Given the description of an element on the screen output the (x, y) to click on. 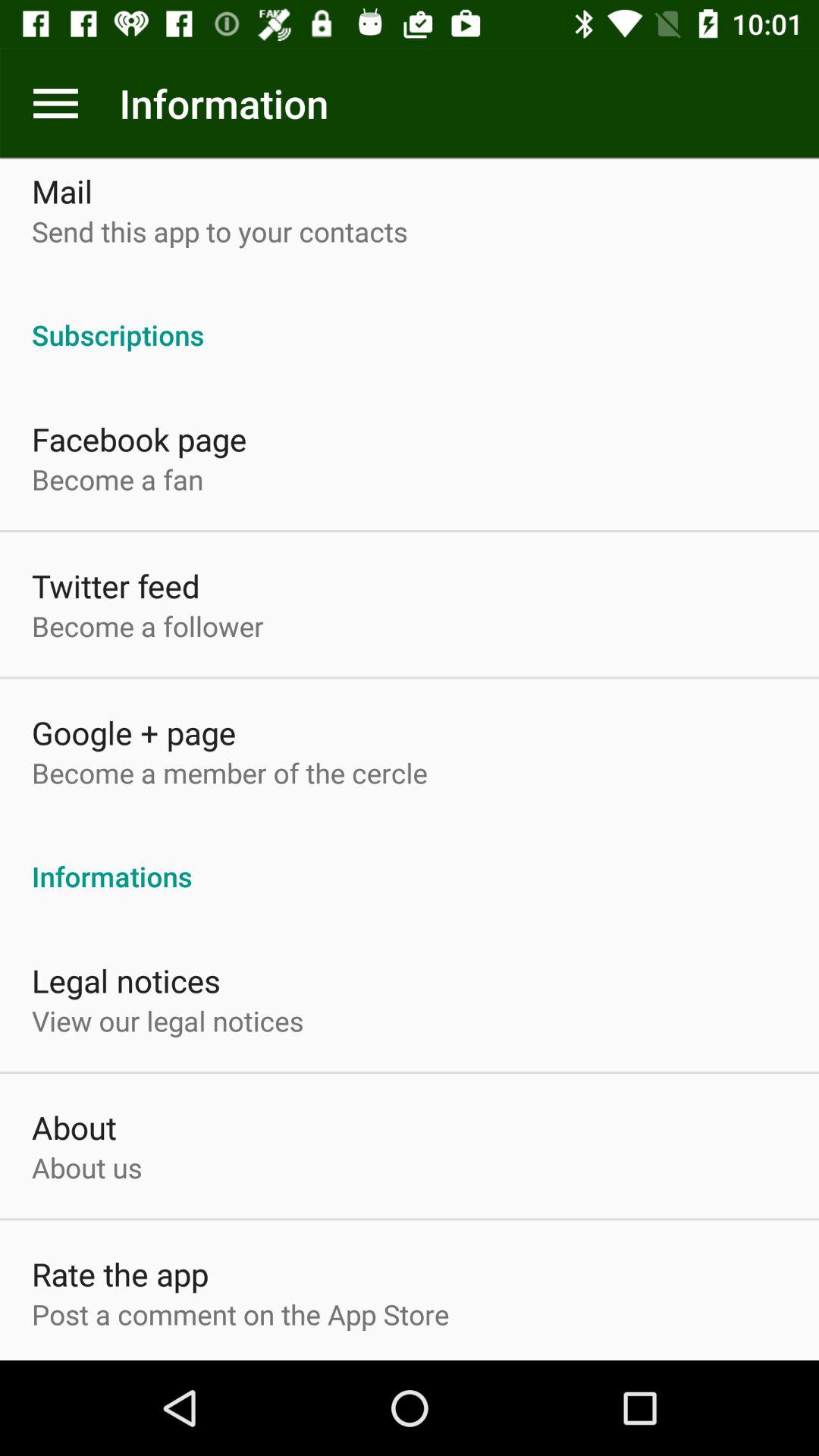
swipe to subscriptions item (409, 318)
